Given the description of an element on the screen output the (x, y) to click on. 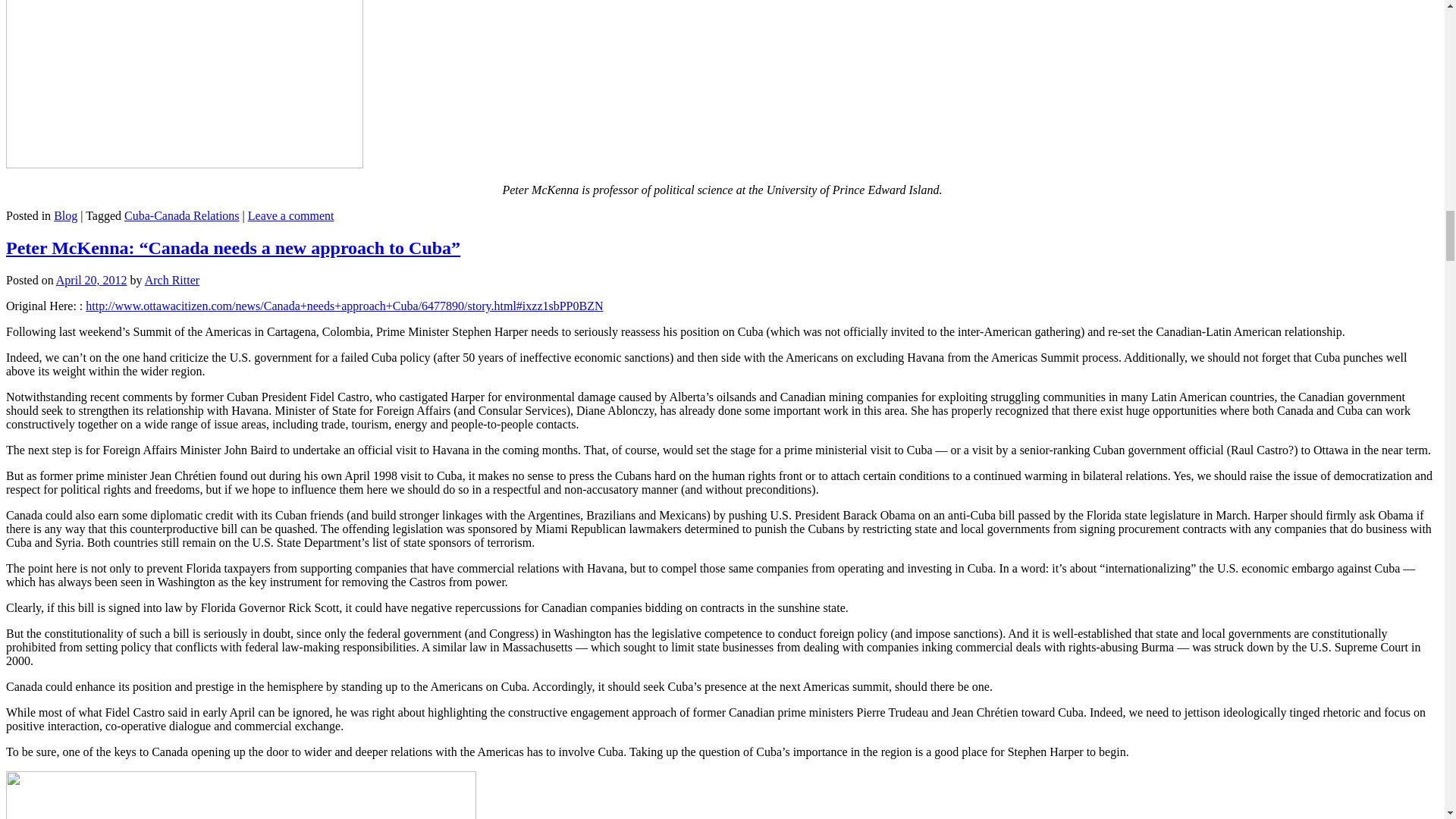
Leave a comment (290, 215)
Blog (65, 215)
Peter McKenna (183, 84)
Peter McKenna (240, 795)
Cuba-Canada Relations (181, 215)
View all posts by Arch Ritter (171, 279)
1:29 pm (92, 279)
